Given the description of an element on the screen output the (x, y) to click on. 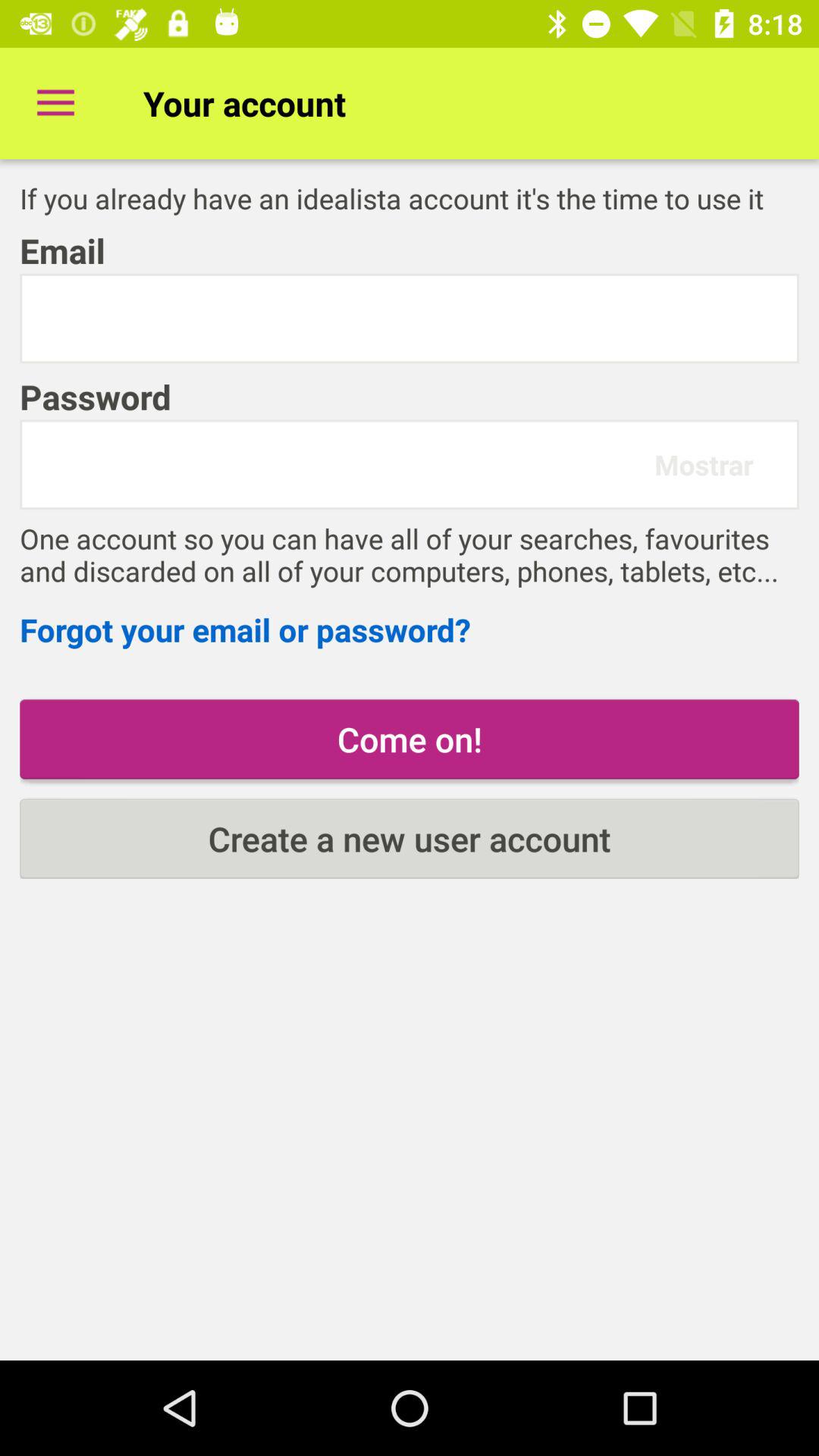
select the item above create a new (409, 739)
